Given the description of an element on the screen output the (x, y) to click on. 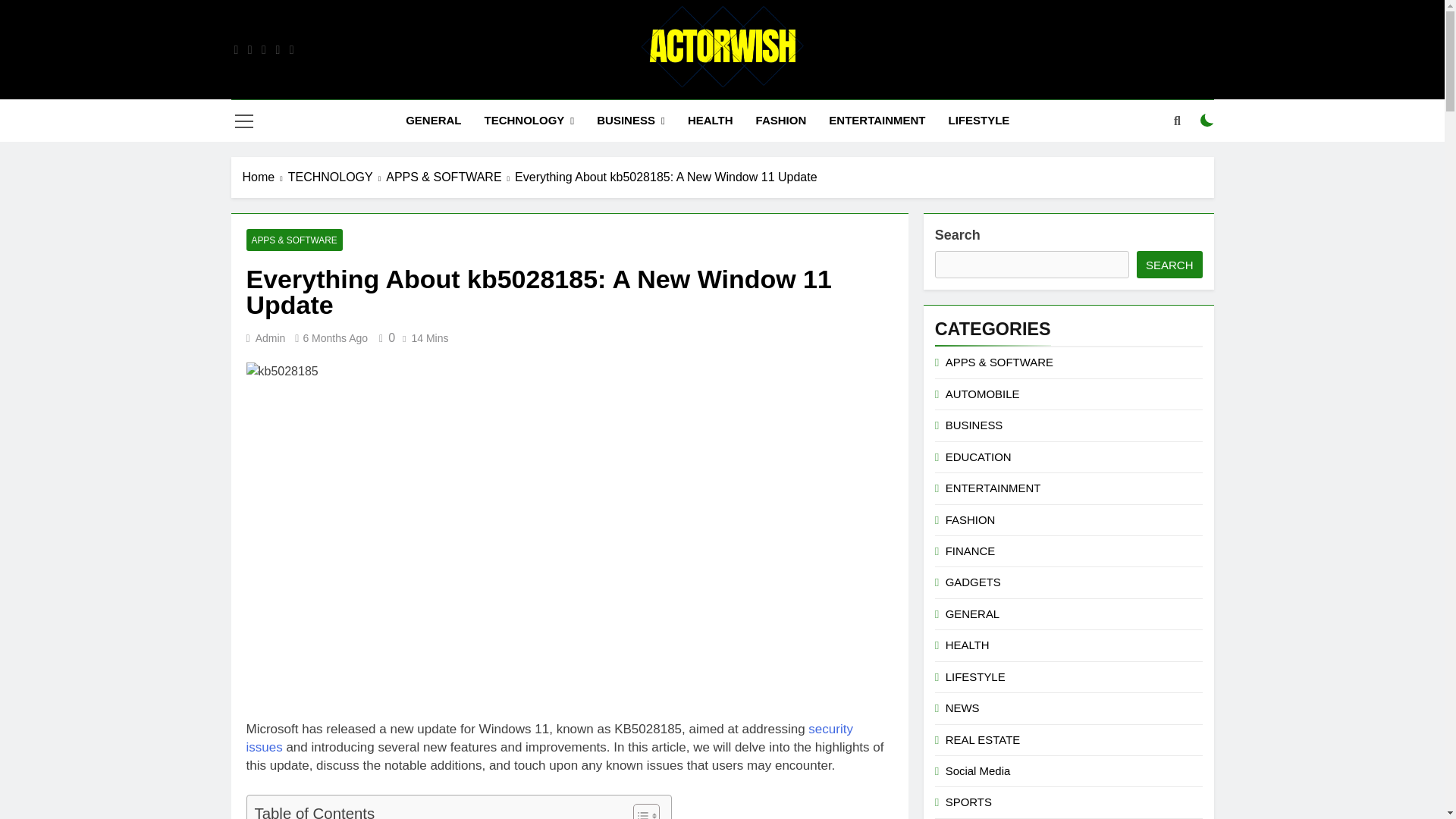
TECHNOLOGY (528, 120)
on (1206, 120)
HEALTH (710, 119)
Admin (270, 337)
ENTERTAINMENT (876, 119)
BUSINESS (631, 120)
6 Months Ago (335, 337)
FASHION (781, 119)
0 (384, 337)
Actorwish (555, 111)
